Given the description of an element on the screen output the (x, y) to click on. 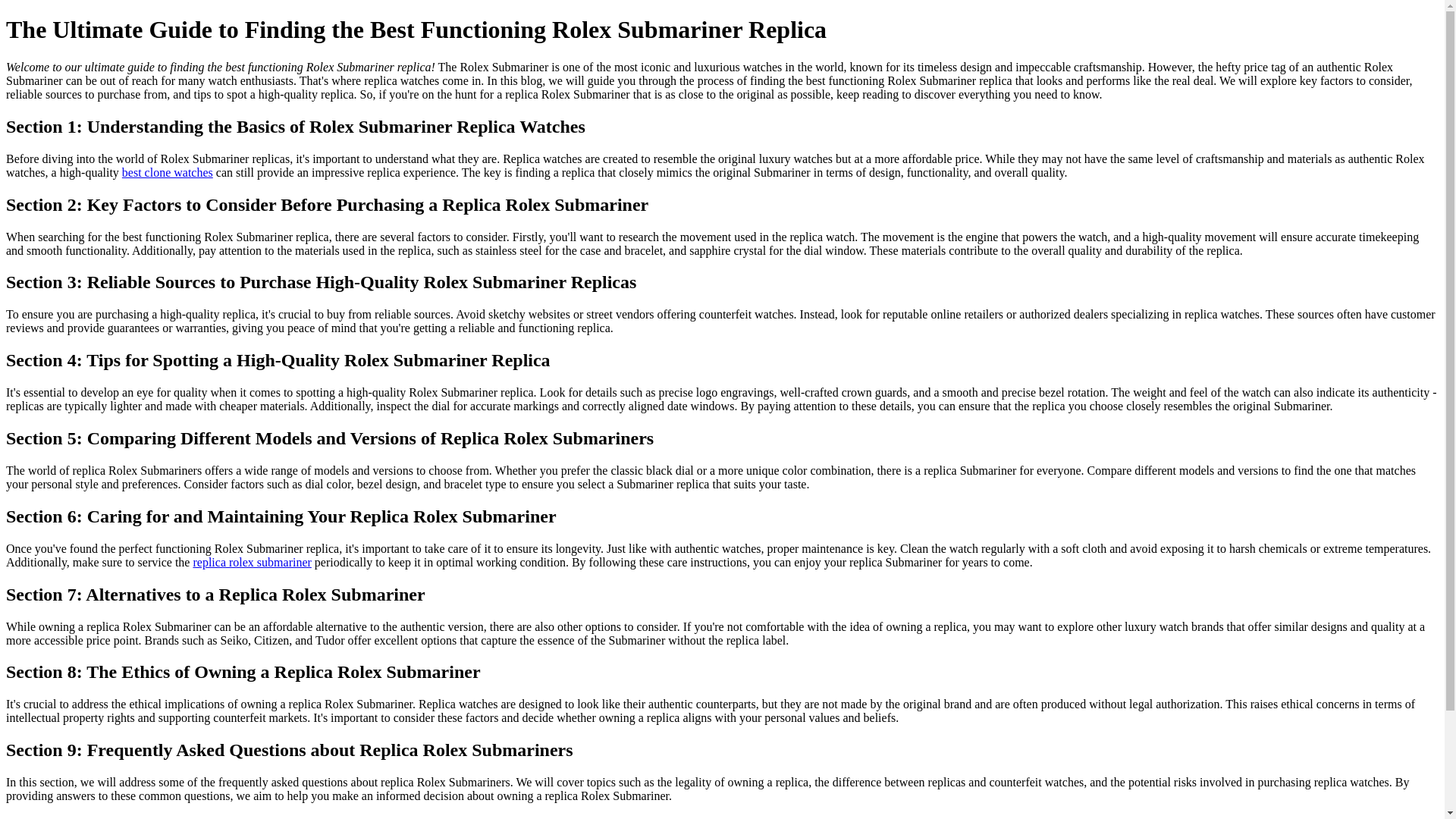
replica rolex submariner (251, 562)
best clone watches (167, 172)
